Given the description of an element on the screen output the (x, y) to click on. 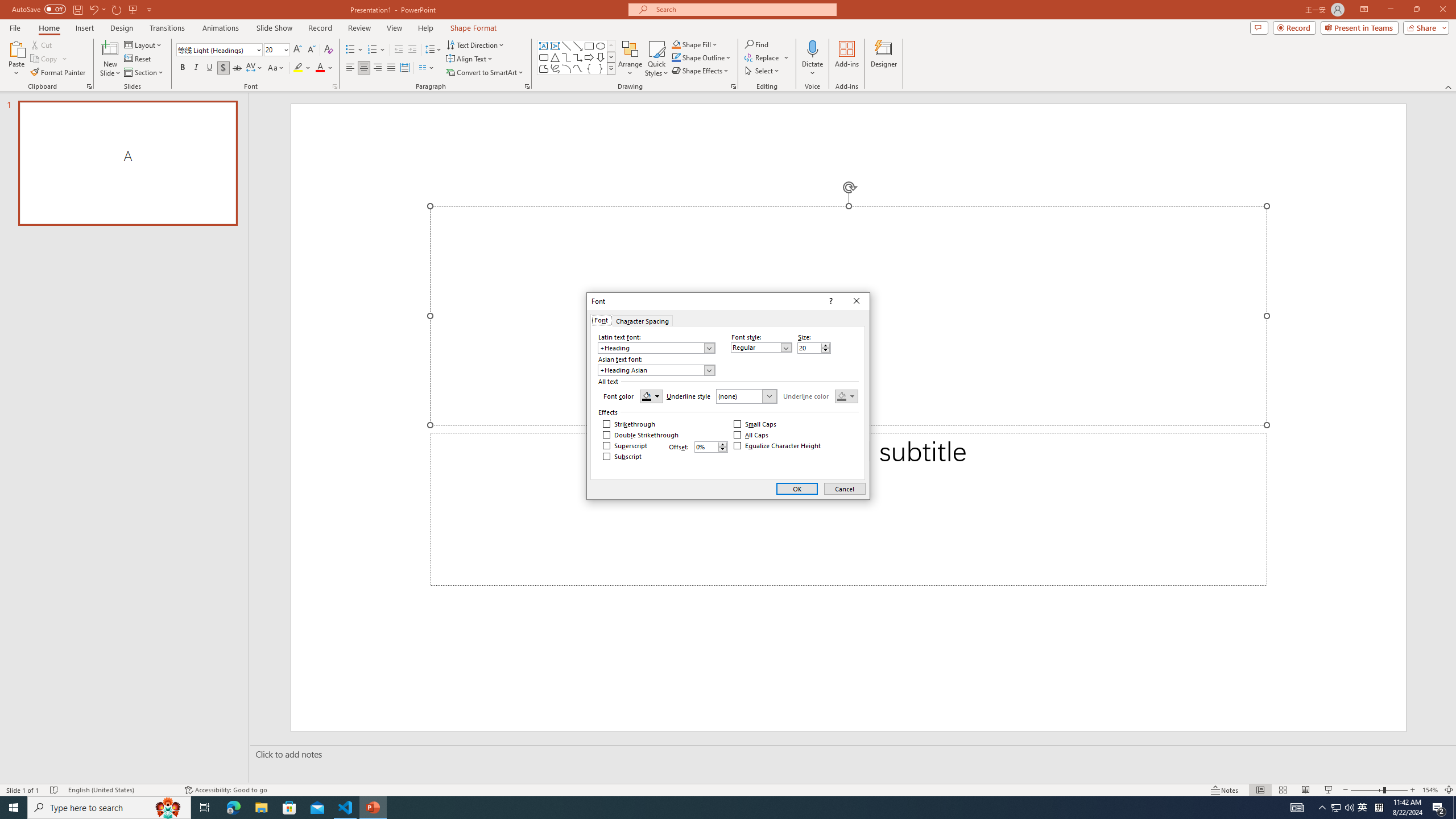
Task View (204, 807)
Arrange (630, 58)
Italic (195, 67)
Center (363, 67)
Font Size (276, 49)
Font... (334, 85)
All Caps (751, 434)
Strikethrough (1335, 807)
Justify (237, 67)
Text Direction (390, 67)
